Given the description of an element on the screen output the (x, y) to click on. 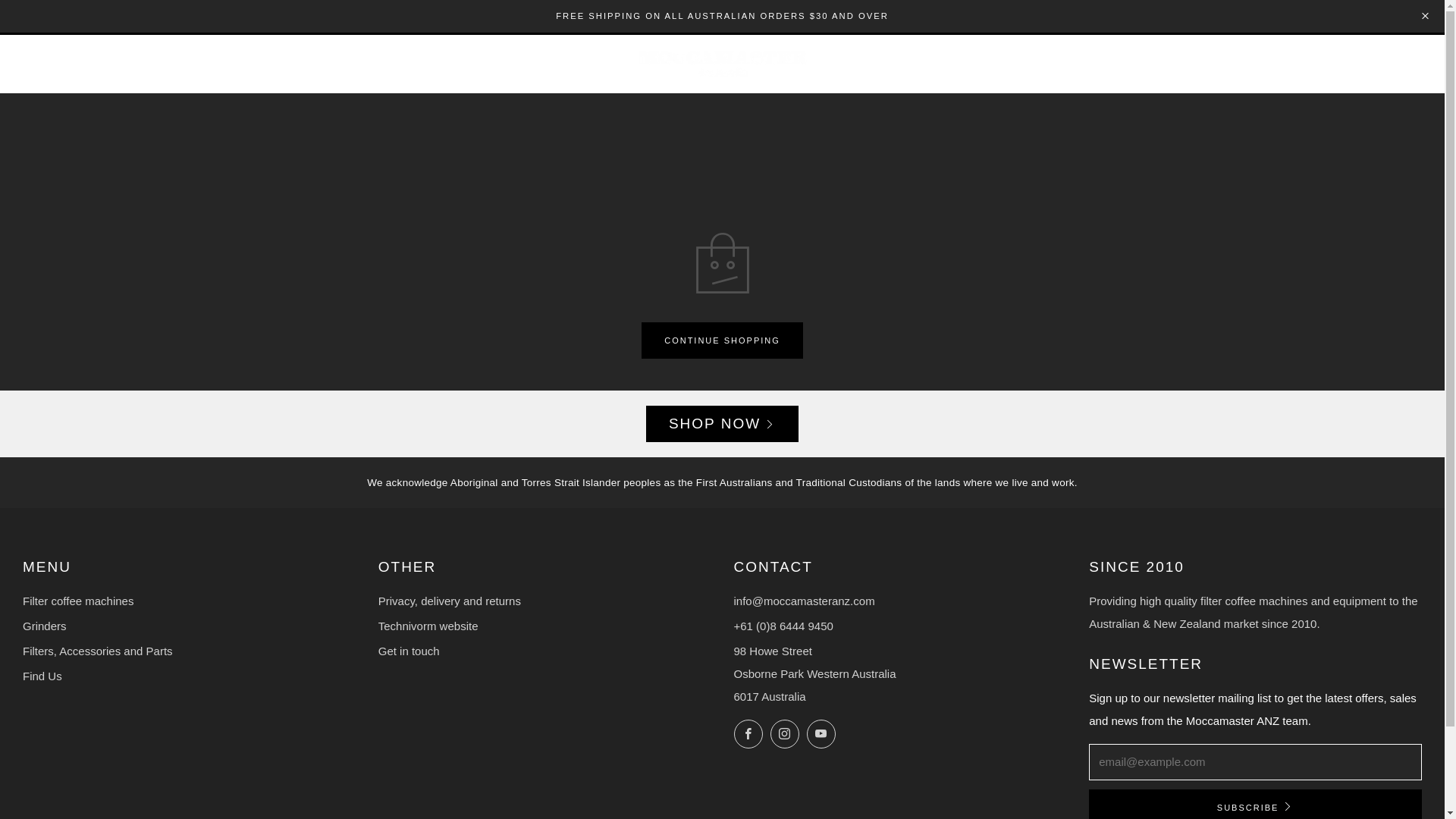
SHOP (89, 63)
HOME (38, 63)
